Given the description of an element on the screen output the (x, y) to click on. 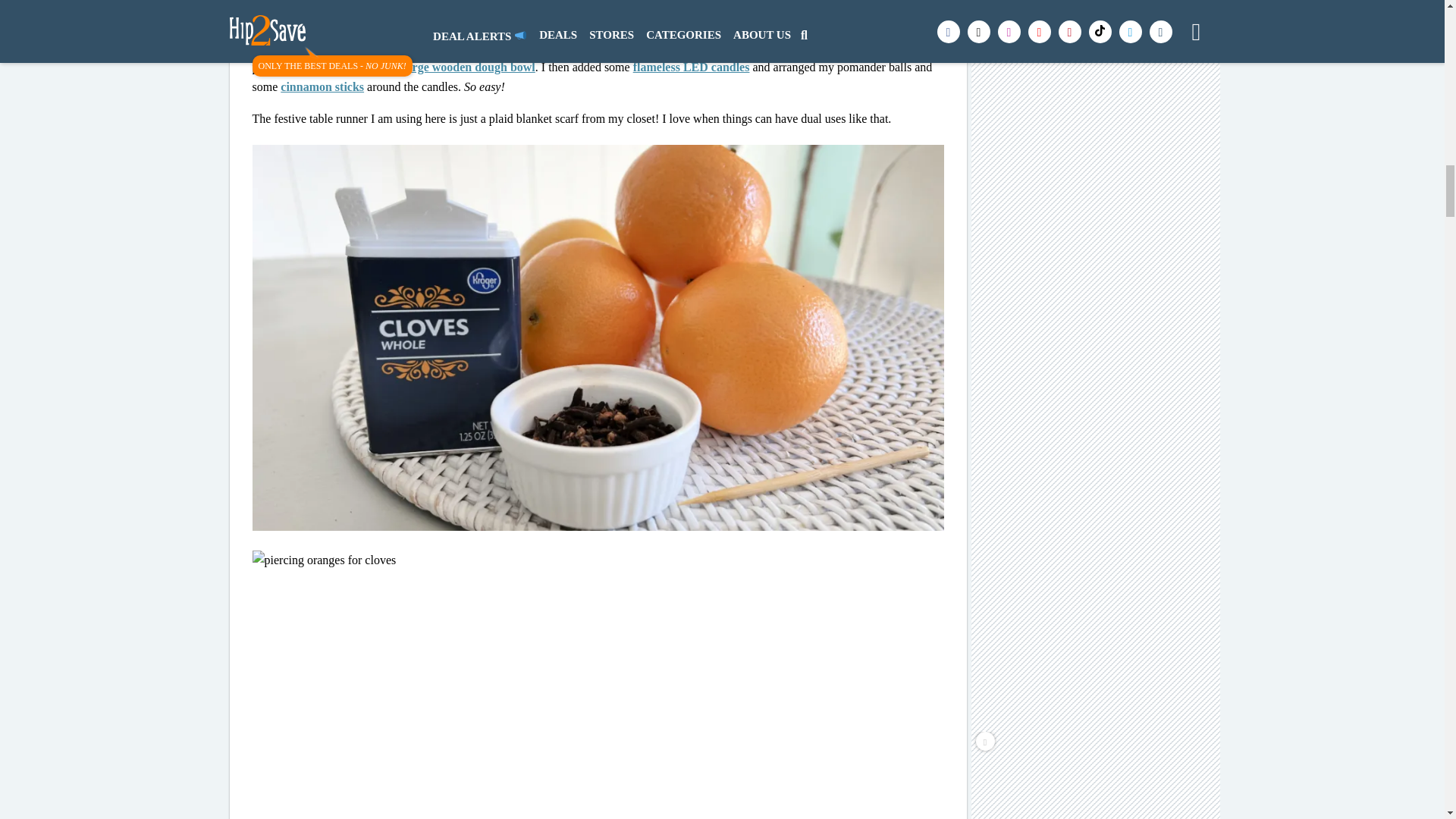
large wooden dough bowl (469, 66)
flameless LED candles (691, 66)
cinnamon sticks (322, 86)
